Given the description of an element on the screen output the (x, y) to click on. 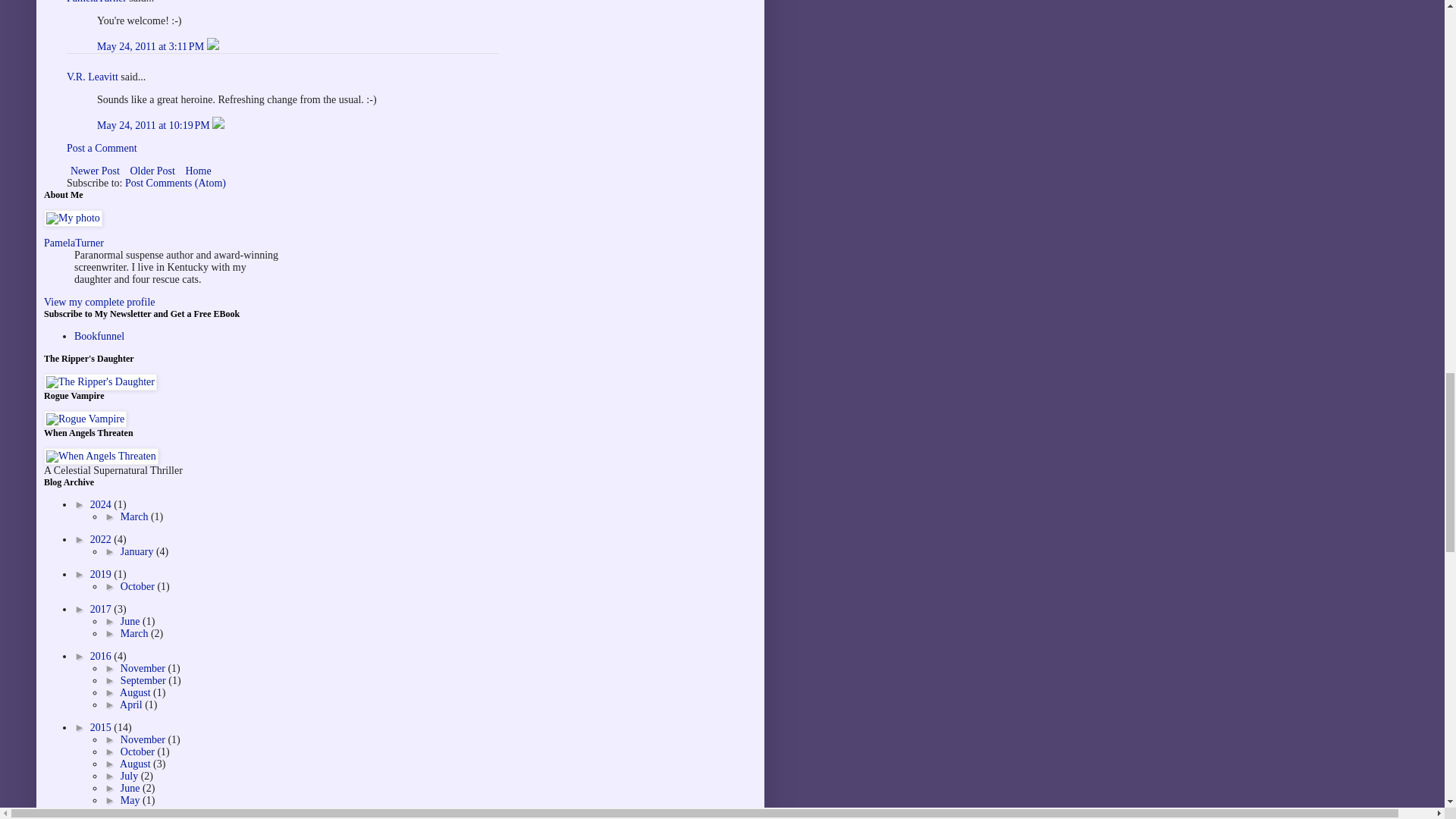
Newer Post (94, 170)
Delete Comment (218, 125)
PamelaTurner (96, 2)
comment permalink (154, 125)
comment permalink (151, 46)
Delete Comment (212, 46)
Post a Comment (101, 147)
V.R. Leavitt (91, 76)
